Given the description of an element on the screen output the (x, y) to click on. 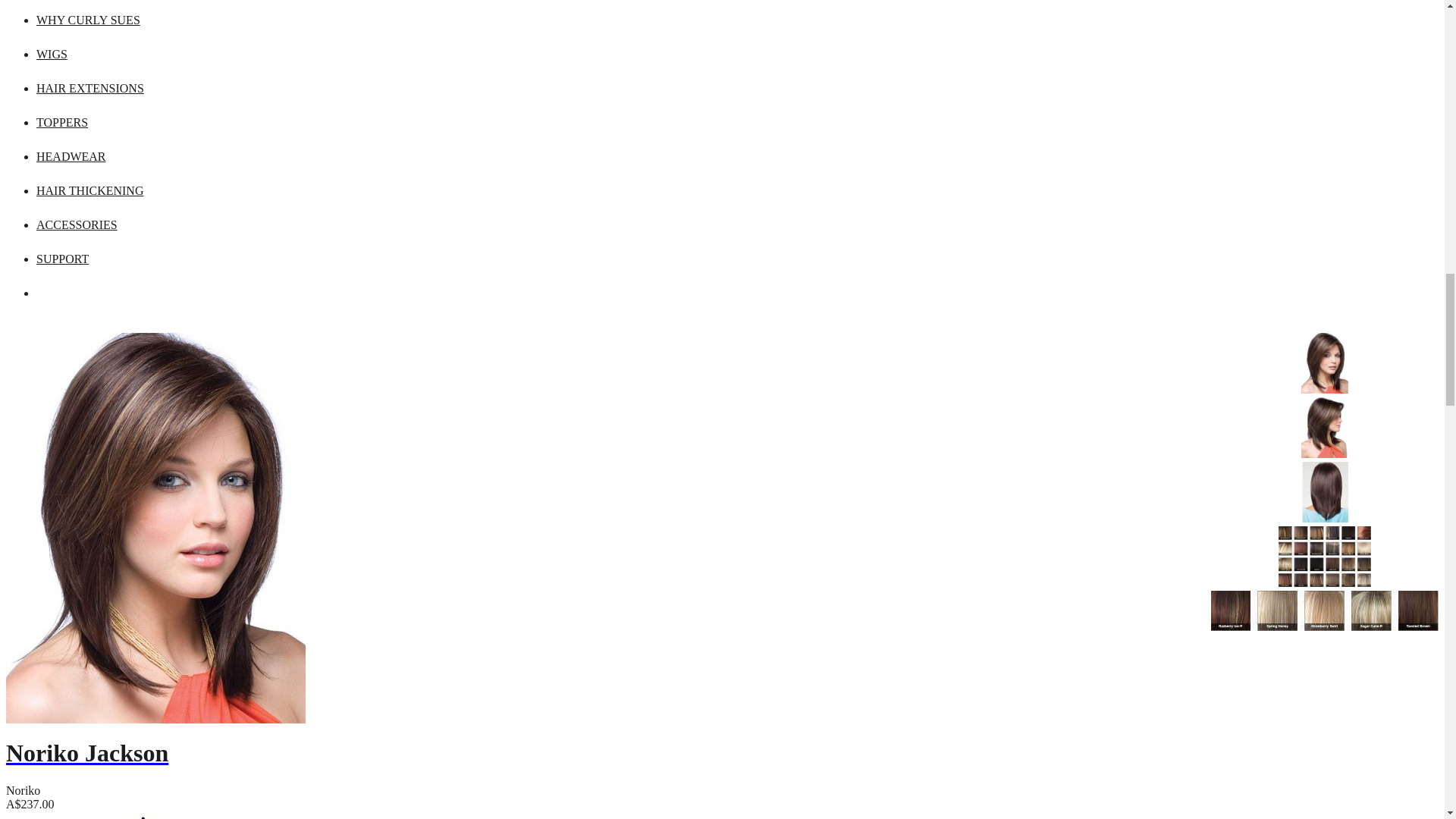
HAIR EXTENSIONS (90, 88)
TOPPERS (61, 122)
WHY CURLY SUES (87, 19)
WIGS (51, 53)
